Given the description of an element on the screen output the (x, y) to click on. 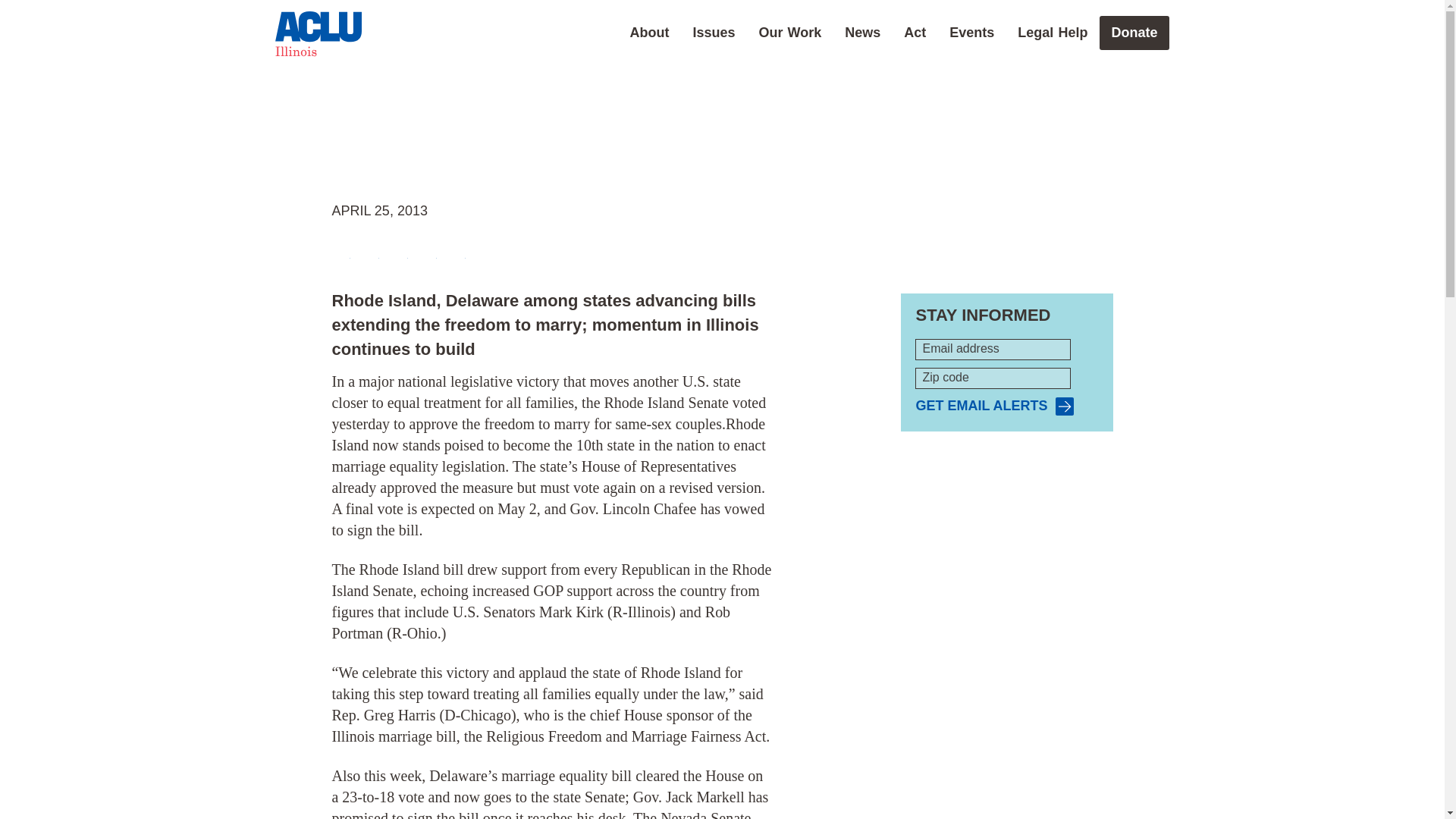
Submit this to Reddit (398, 250)
Act (914, 32)
ACLU of Illinois - logo (318, 33)
Zip code (992, 378)
Get email alerts (994, 406)
Email address (992, 349)
Submit this to Twitter (369, 250)
Events (971, 32)
Email this page (427, 250)
